Given the description of an element on the screen output the (x, y) to click on. 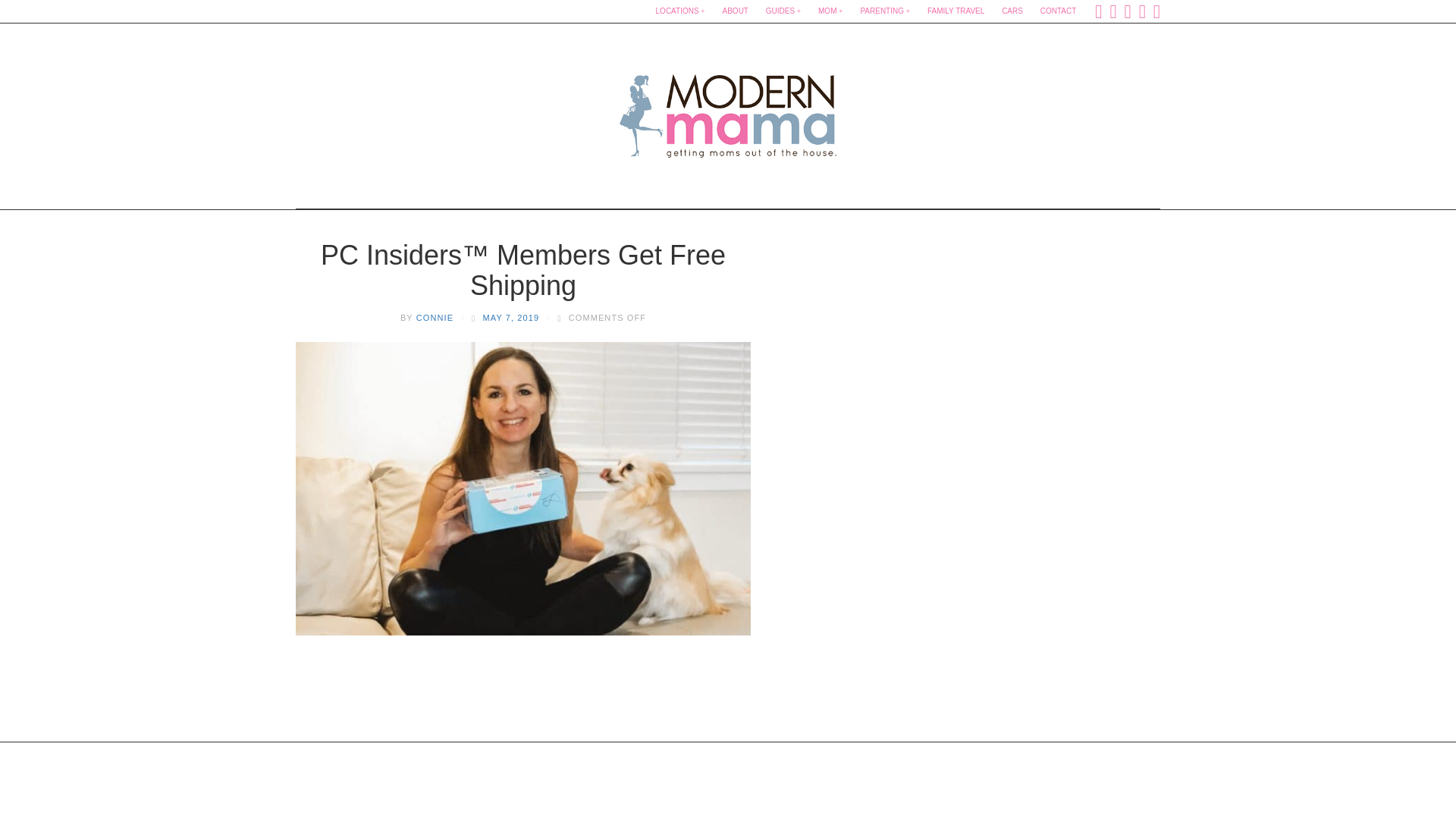
ABOUT (734, 11)
FAMILY TRAVEL (955, 11)
CARS (1012, 11)
CONNIE (434, 317)
11:17 am (511, 317)
Modern Mama (728, 111)
PARENTING (884, 11)
View all posts by connie (434, 317)
LOCATIONS (680, 11)
MAY 7, 2019 (511, 317)
